Given the description of an element on the screen output the (x, y) to click on. 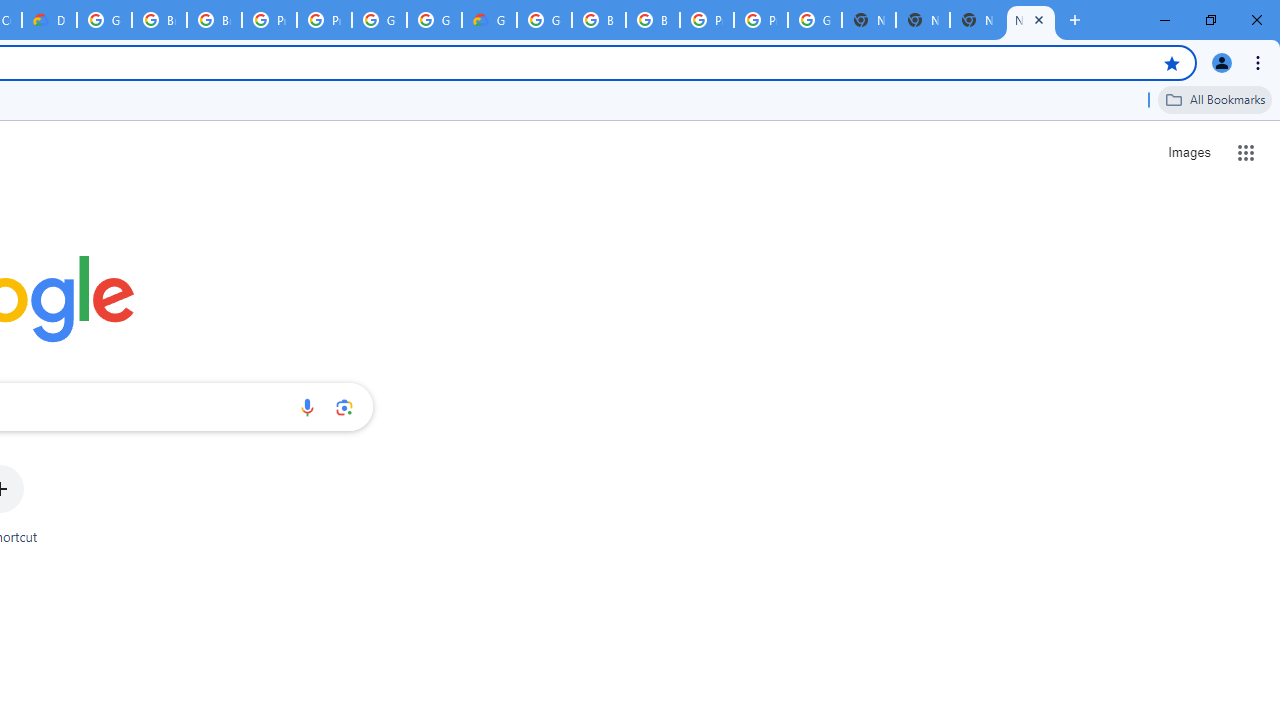
Google Cloud Platform (815, 20)
Browse Chrome as a guest - Computer - Google Chrome Help (598, 20)
New Tab (922, 20)
New Tab (1030, 20)
Google Cloud Platform (103, 20)
Google Cloud Platform (379, 20)
Google Cloud Platform (544, 20)
